Given the description of an element on the screen output the (x, y) to click on. 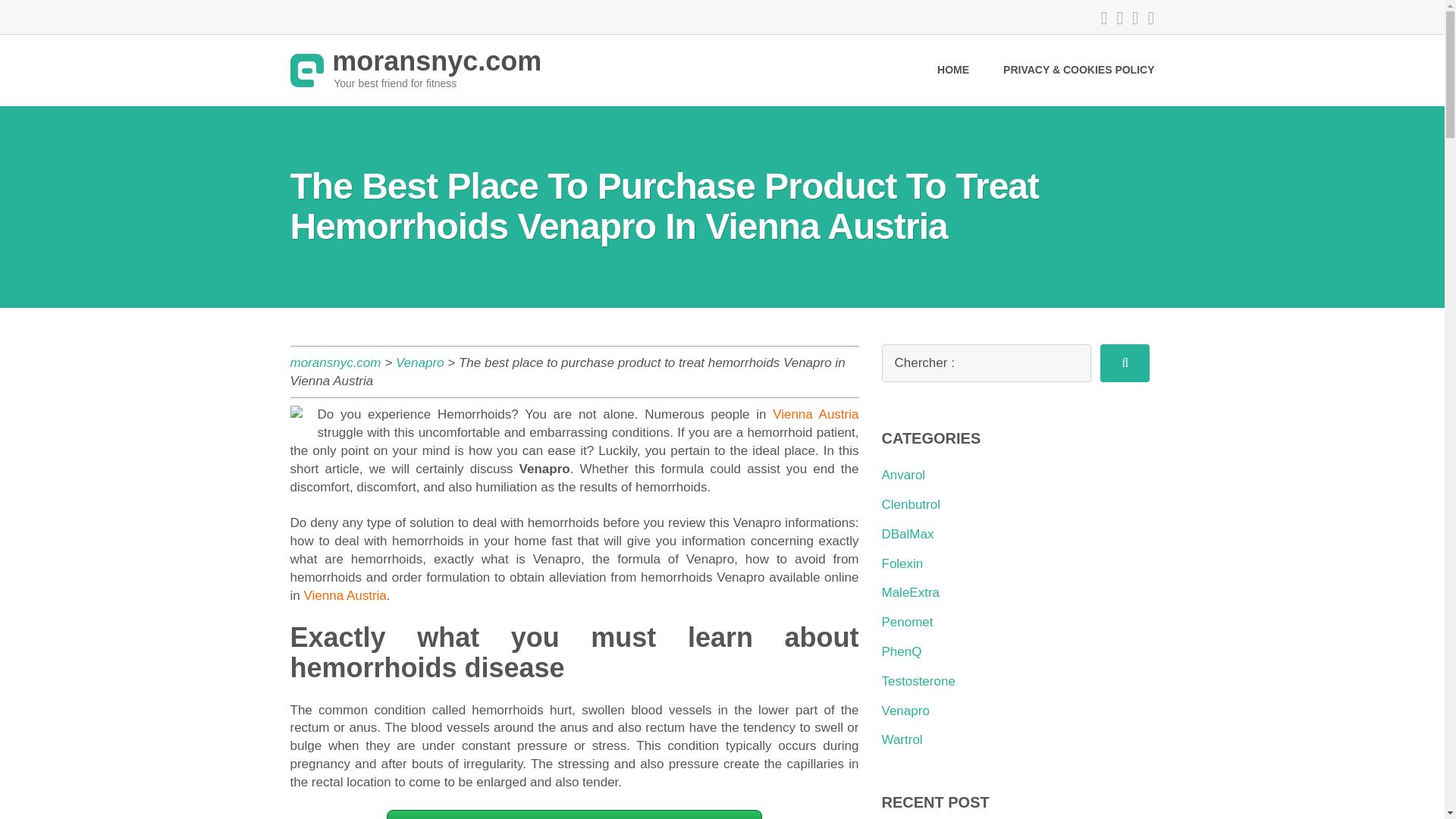
MaleExtra (909, 592)
HOME (953, 70)
Anvarol (902, 474)
Testosterone (917, 681)
Anvarol (902, 474)
Folexin (901, 563)
Chercher for:  (985, 362)
Clenbutrol (910, 504)
Penomet (906, 622)
PhenQ (900, 651)
DBalMax (906, 534)
moransnyc.com (415, 69)
Penomet (906, 622)
Folexin (901, 563)
Venapro (421, 362)
